Given the description of an element on the screen output the (x, y) to click on. 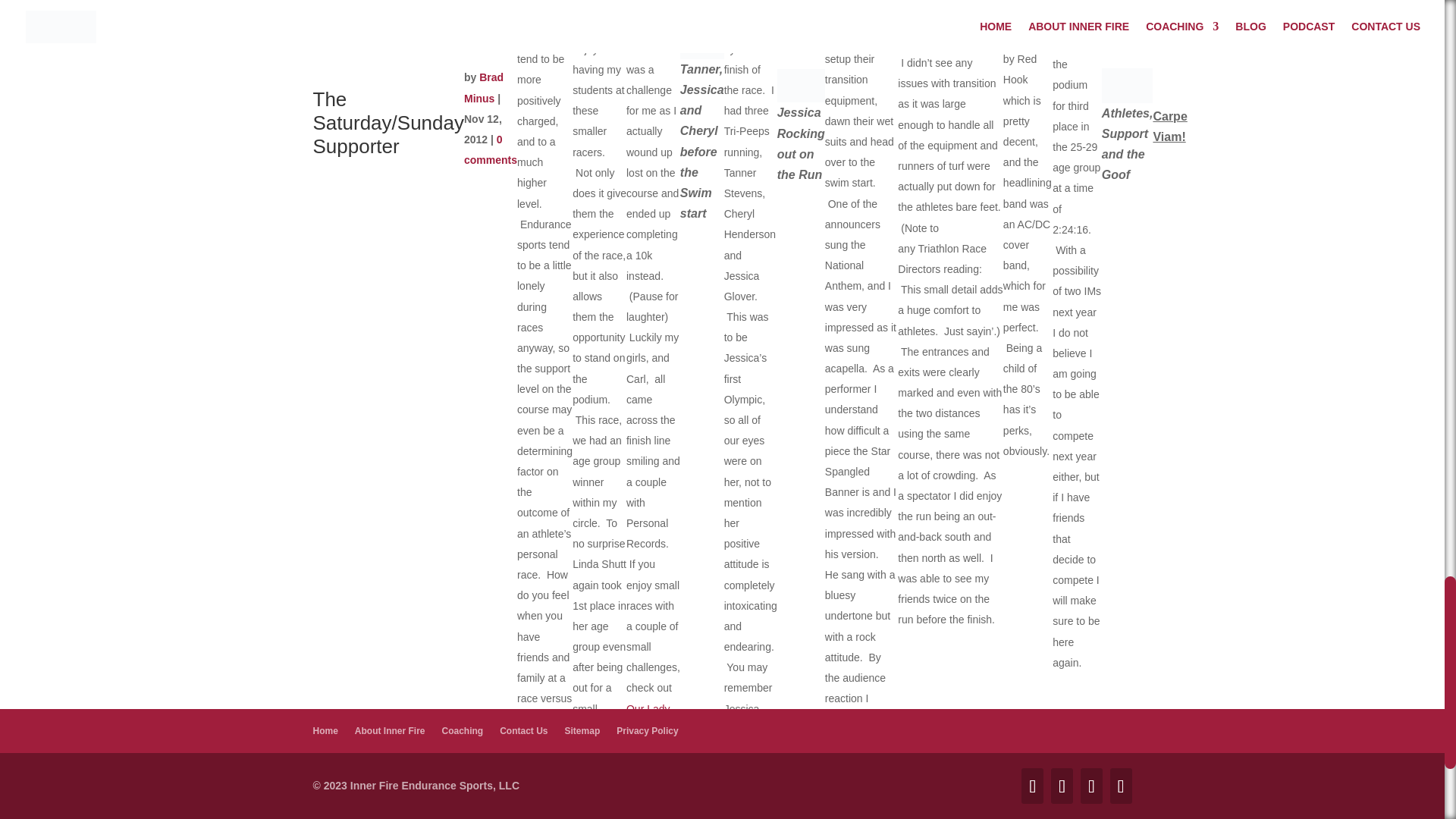
Brad Minus (483, 87)
Posts by Brad Minus (483, 87)
Jet City posting (741, 759)
0 comments (490, 149)
